Given the description of an element on the screen output the (x, y) to click on. 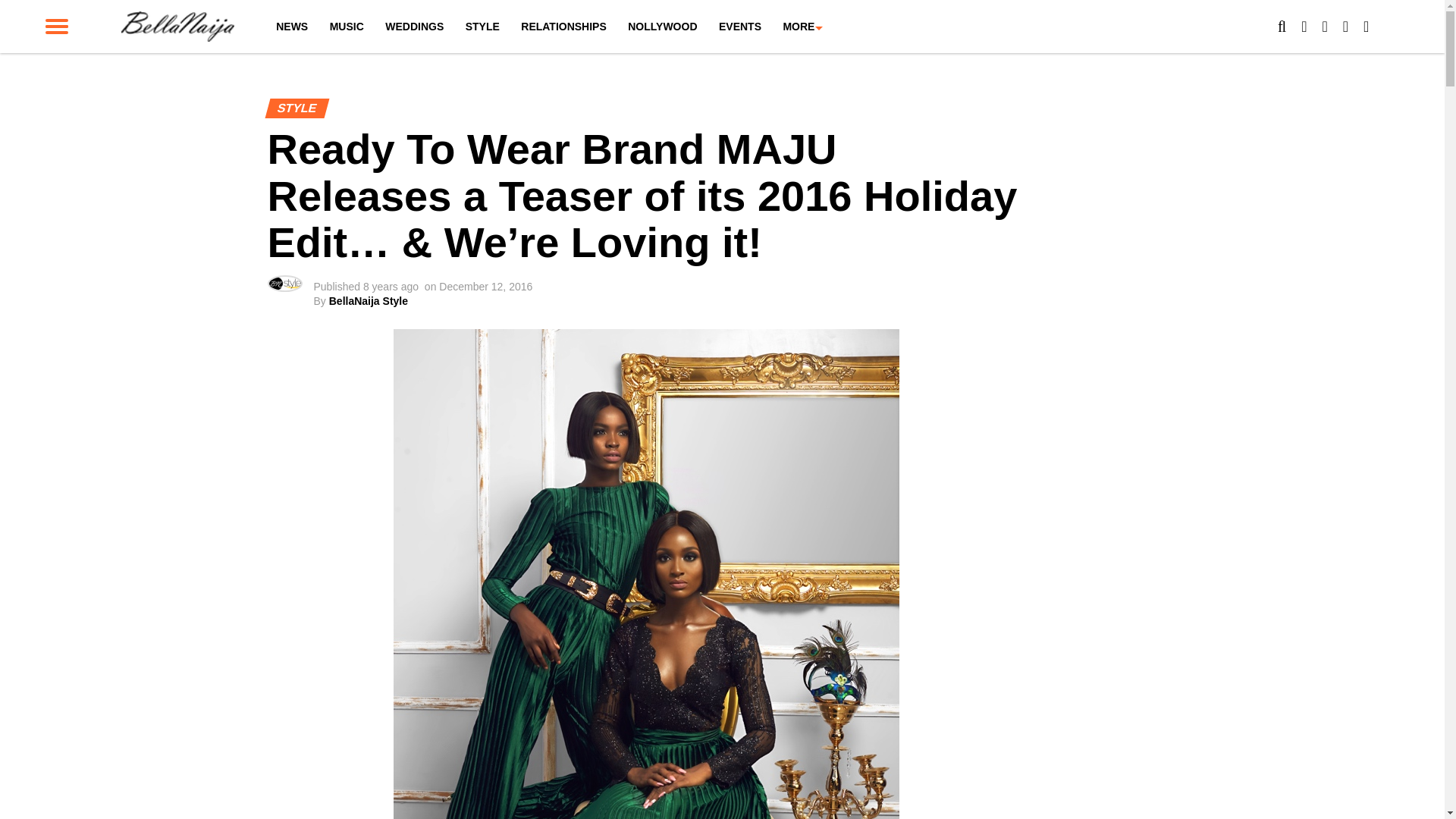
NEWS (291, 26)
MUSIC (346, 26)
NOLLYWOOD (662, 26)
STYLE (482, 26)
RELATIONSHIPS (563, 26)
MORE (798, 26)
EVENTS (740, 26)
WEDDINGS (413, 26)
